Given the description of an element on the screen output the (x, y) to click on. 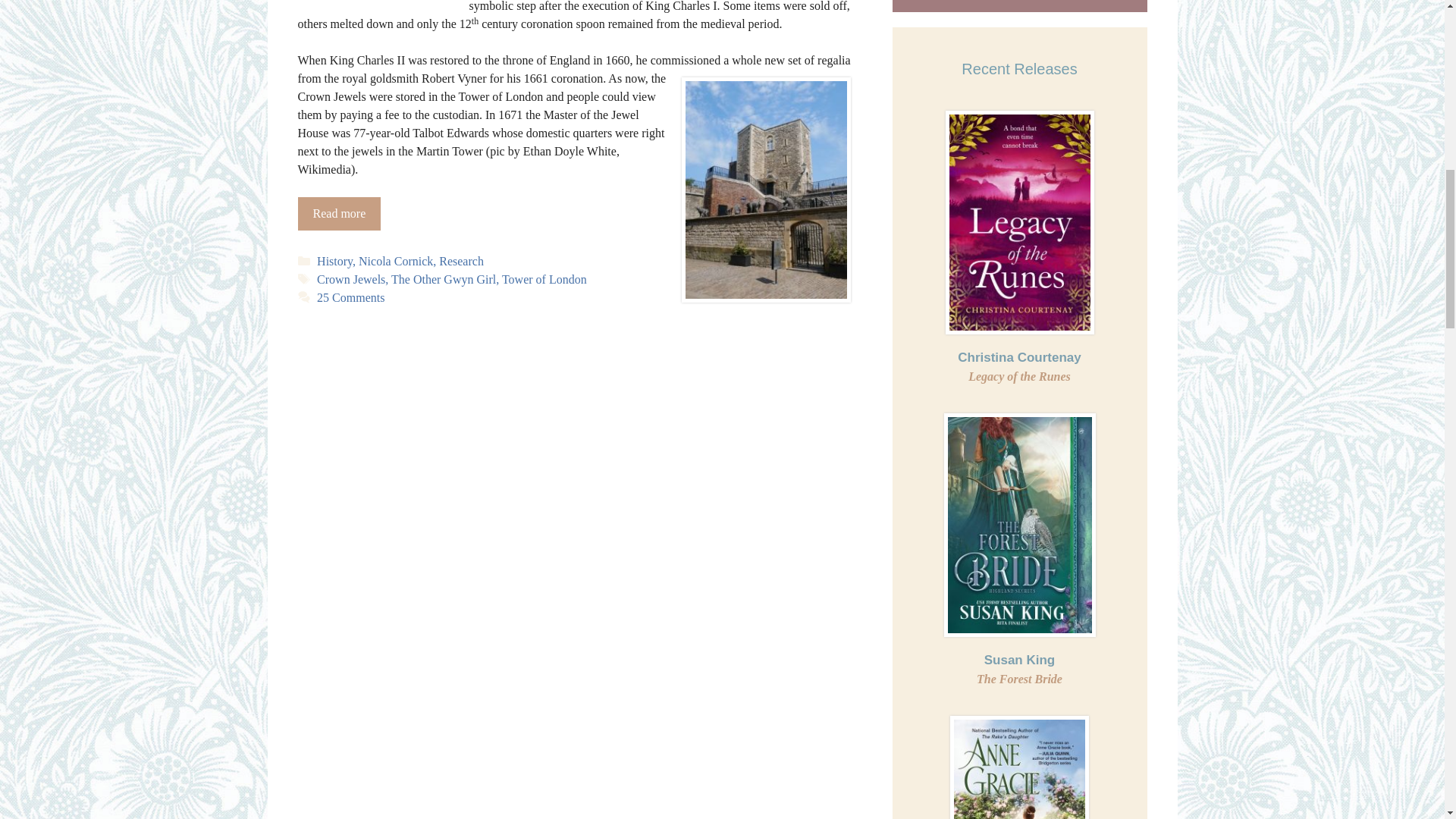
25 Comments (350, 297)
The Attempted Theft of the Crown Jewels! (338, 213)
Read more (338, 213)
Tower of London (544, 278)
Nicola Cornick (1019, 367)
Research (1019, 669)
History (395, 260)
The Other Gwyn Girl (461, 260)
